Given the description of an element on the screen output the (x, y) to click on. 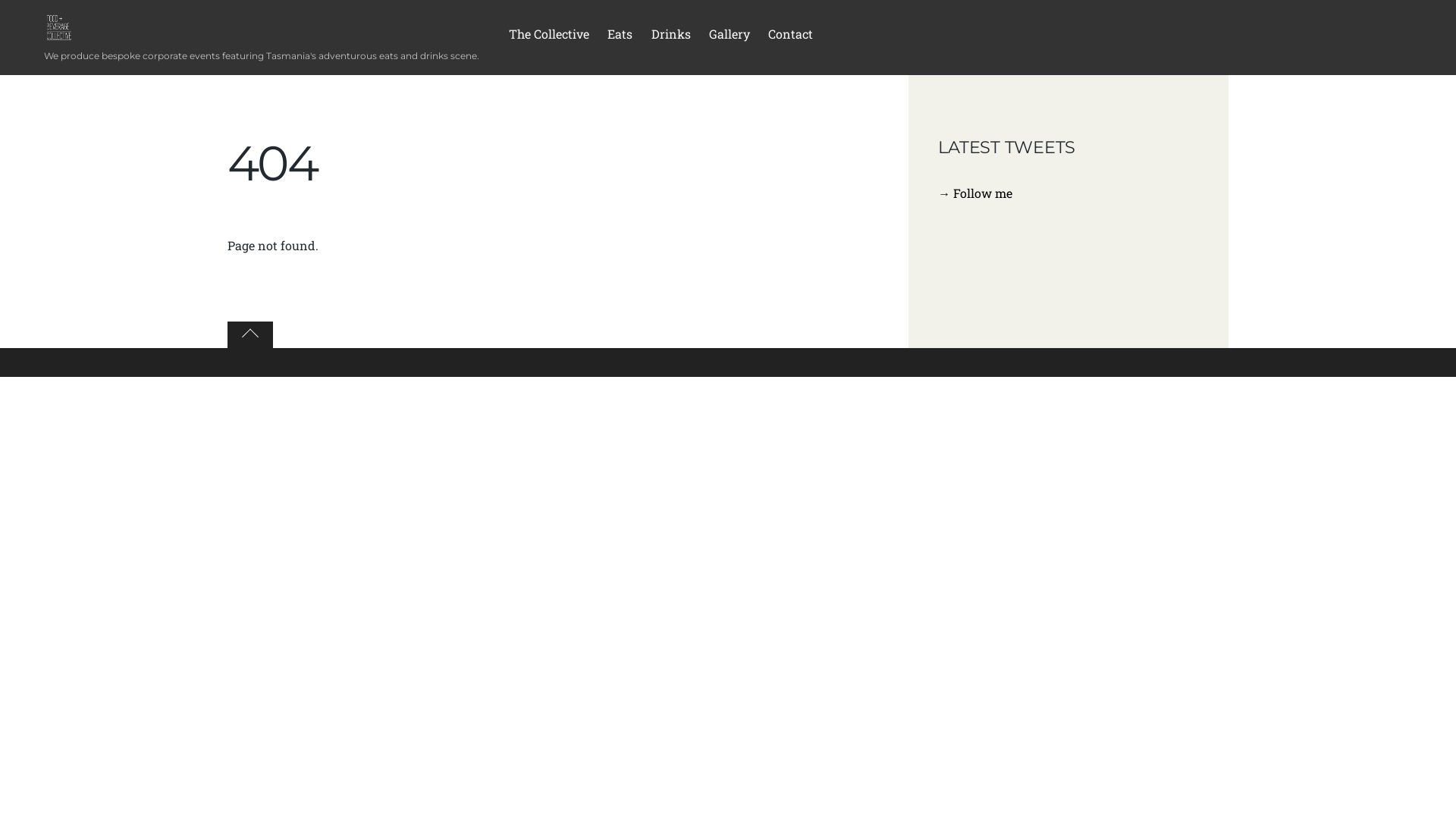
Contact Element type: text (790, 36)
Food Beverage Collective Element type: hover (58, 32)
Drinks Element type: text (670, 36)
Food Beverage Collective Element type: hover (58, 27)
The Collective Element type: text (548, 36)
Eats Element type: text (619, 36)
Gallery Element type: text (729, 36)
